Given the description of an element on the screen output the (x, y) to click on. 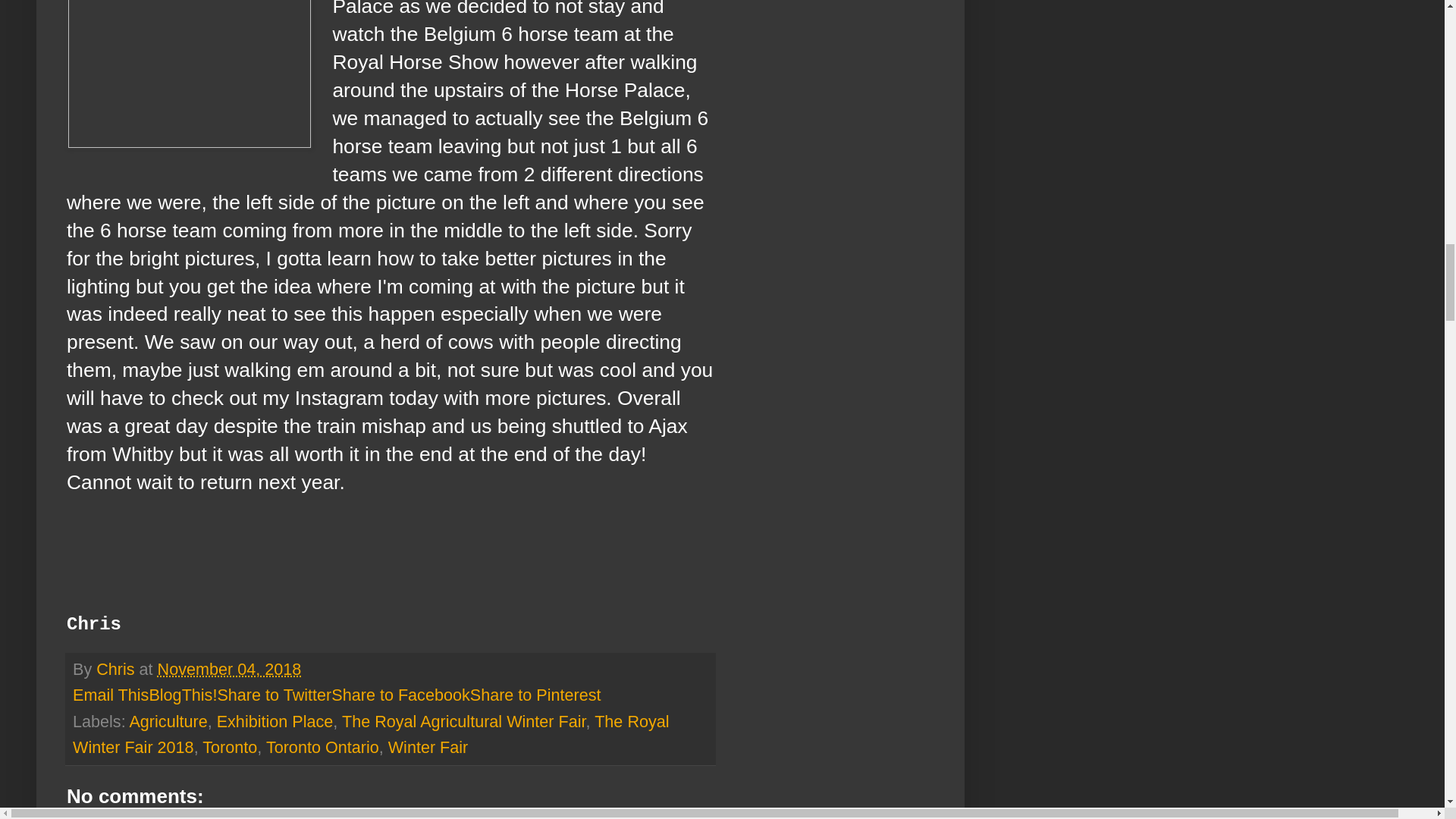
Email This (110, 694)
Share to Pinterest (535, 694)
Share to Facebook (399, 694)
November 04, 2018 (229, 669)
permanent link (229, 669)
Share to Facebook (399, 694)
Chris (117, 669)
Agriculture (167, 721)
author profile (117, 669)
Email This (110, 694)
The Royal Agricultural Winter Fair (464, 721)
Share to Pinterest (535, 694)
Toronto Ontario (322, 746)
BlogThis! (182, 694)
Share to Twitter (273, 694)
